Given the description of an element on the screen output the (x, y) to click on. 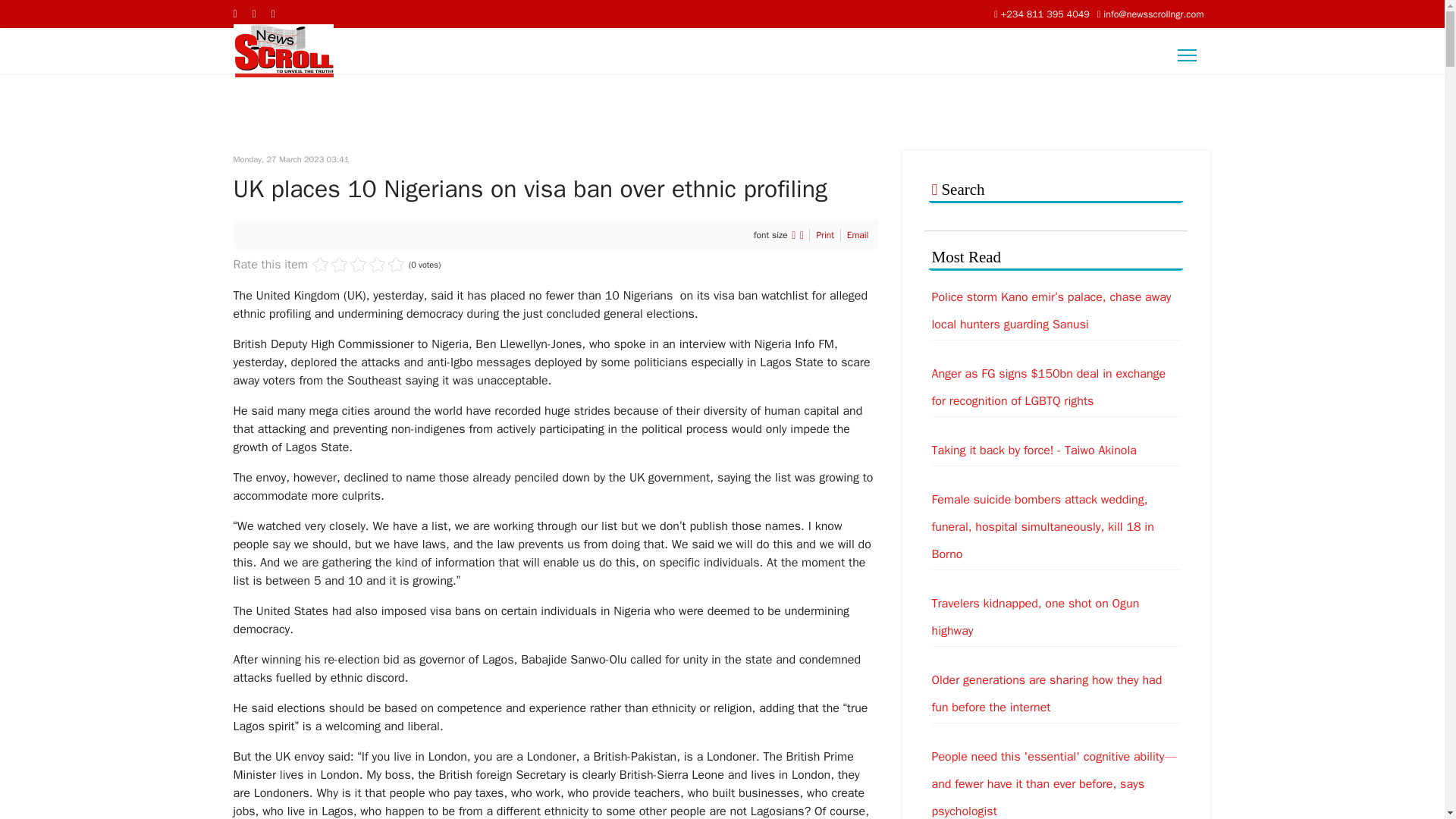
Travelers kidnapped, one shot on Ogun highway (1055, 617)
3 stars out of 5 (339, 264)
2 stars out of 5 (330, 264)
Taking it back by force! - Taiwo Akinola (1055, 450)
4 (349, 264)
5 stars out of 5 (358, 264)
2 (330, 264)
Print (825, 234)
3 (339, 264)
1 (320, 264)
Email (858, 234)
4 stars out of 5 (349, 264)
1 star out of 5 (320, 264)
